Given the description of an element on the screen output the (x, y) to click on. 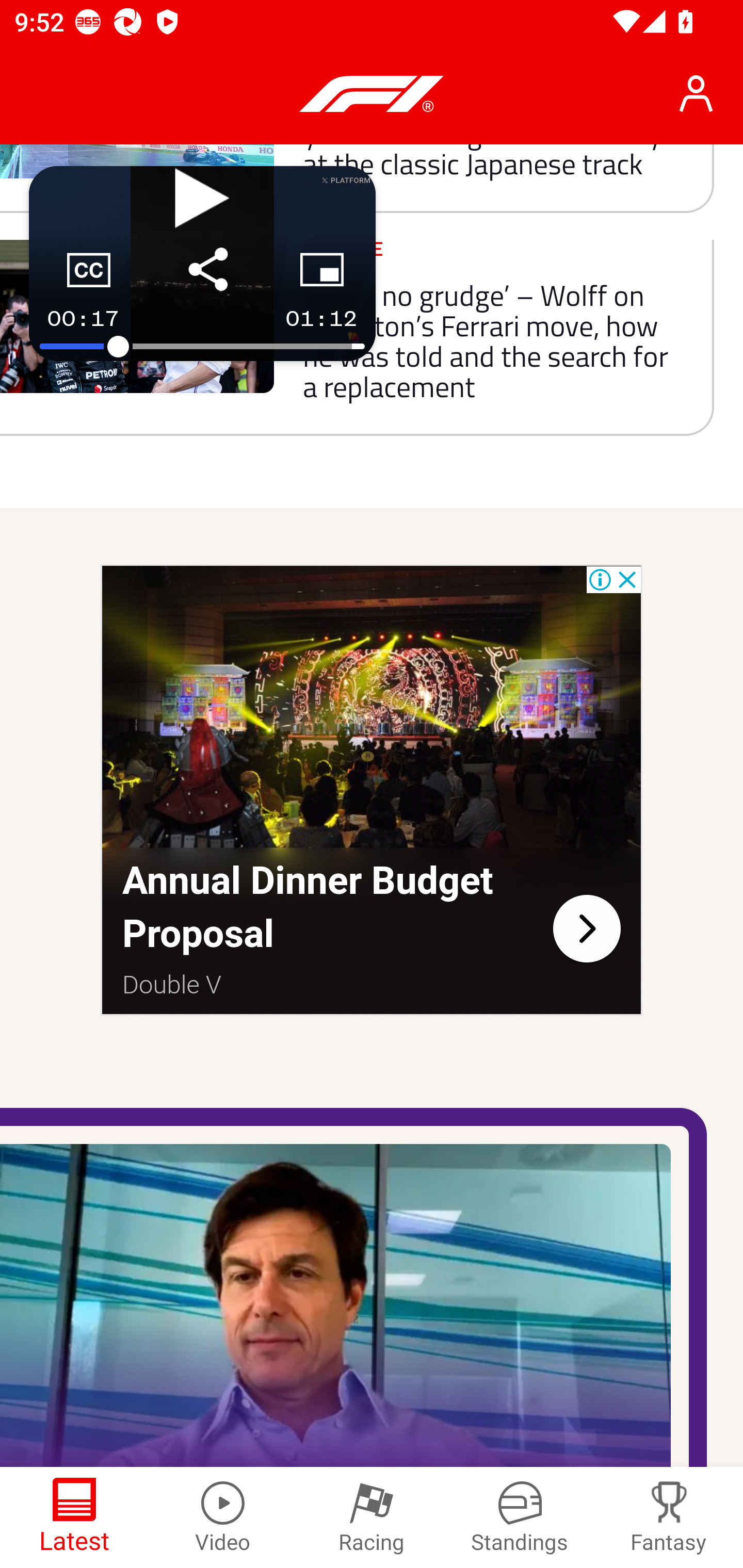
annual-dinner-event-for-company (371, 709)
annual-dinner-event-for-company (586, 927)
Double V (172, 984)
Video (222, 1517)
Racing (371, 1517)
Standings (519, 1517)
Fantasy (668, 1517)
